Given the description of an element on the screen output the (x, y) to click on. 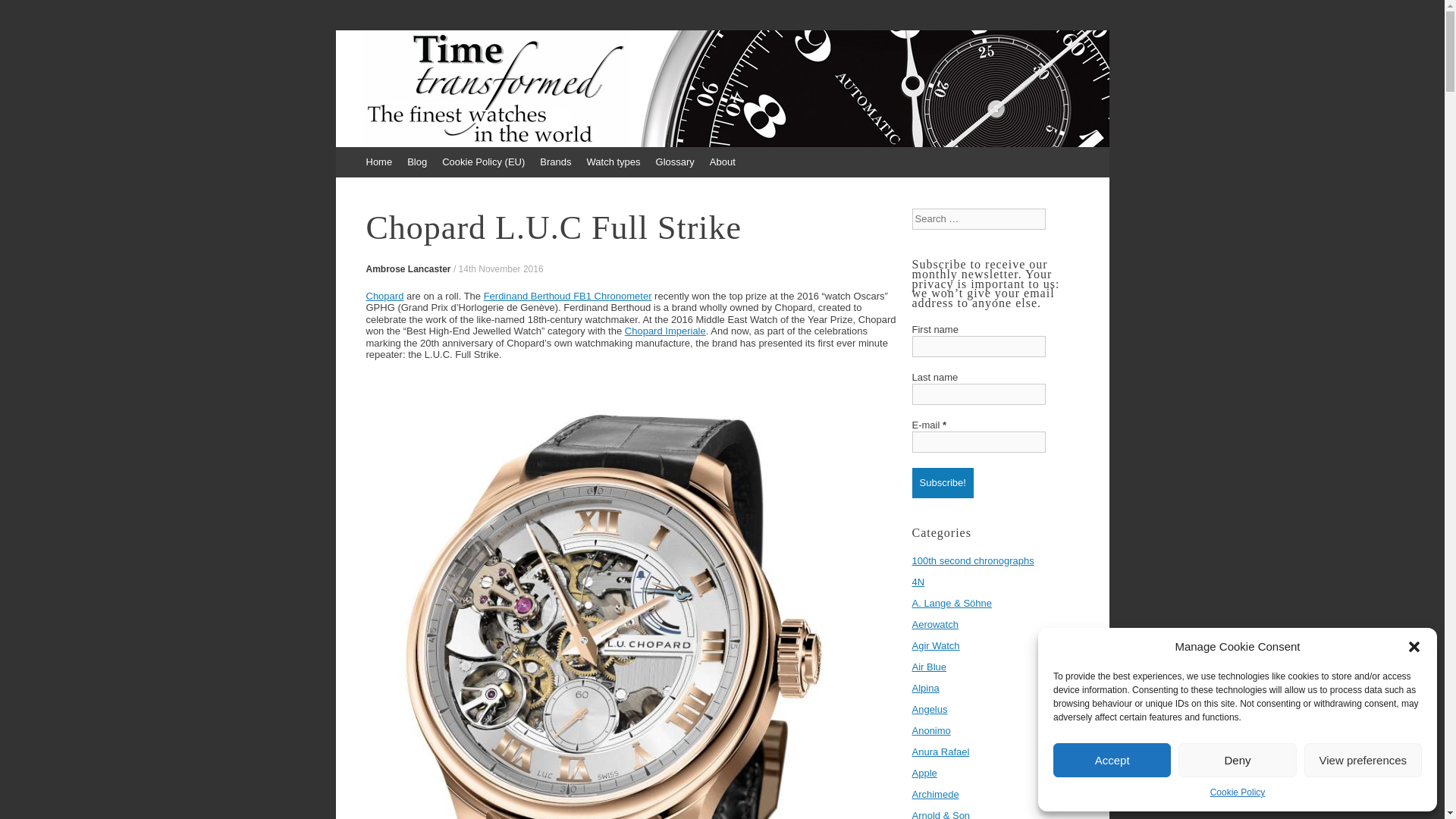
Chopard Imperiale (665, 330)
Ferdinand Berthoud FB1 Chronometer (567, 295)
Subscribe! (941, 482)
Ambrose Lancaster (407, 268)
First name (978, 346)
Deny (1236, 759)
Time Transformed (467, 80)
Chopard (384, 295)
14th November 2016 (500, 268)
Blog (415, 162)
